Given the description of an element on the screen output the (x, y) to click on. 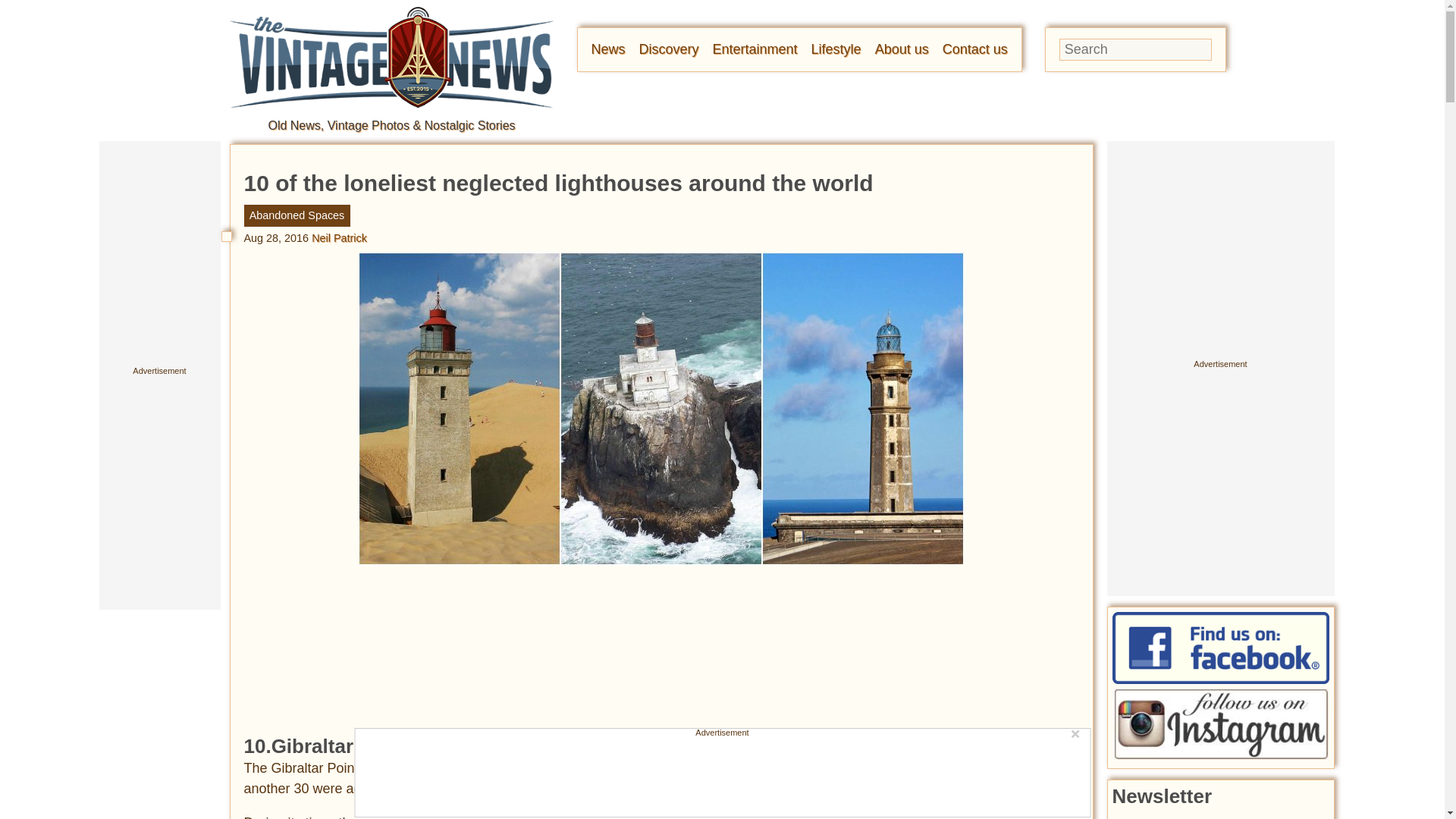
About us (901, 48)
Contact us (974, 48)
Lifestyle (835, 48)
News (608, 48)
Entertainment (755, 48)
Discovery (668, 48)
